Given the description of an element on the screen output the (x, y) to click on. 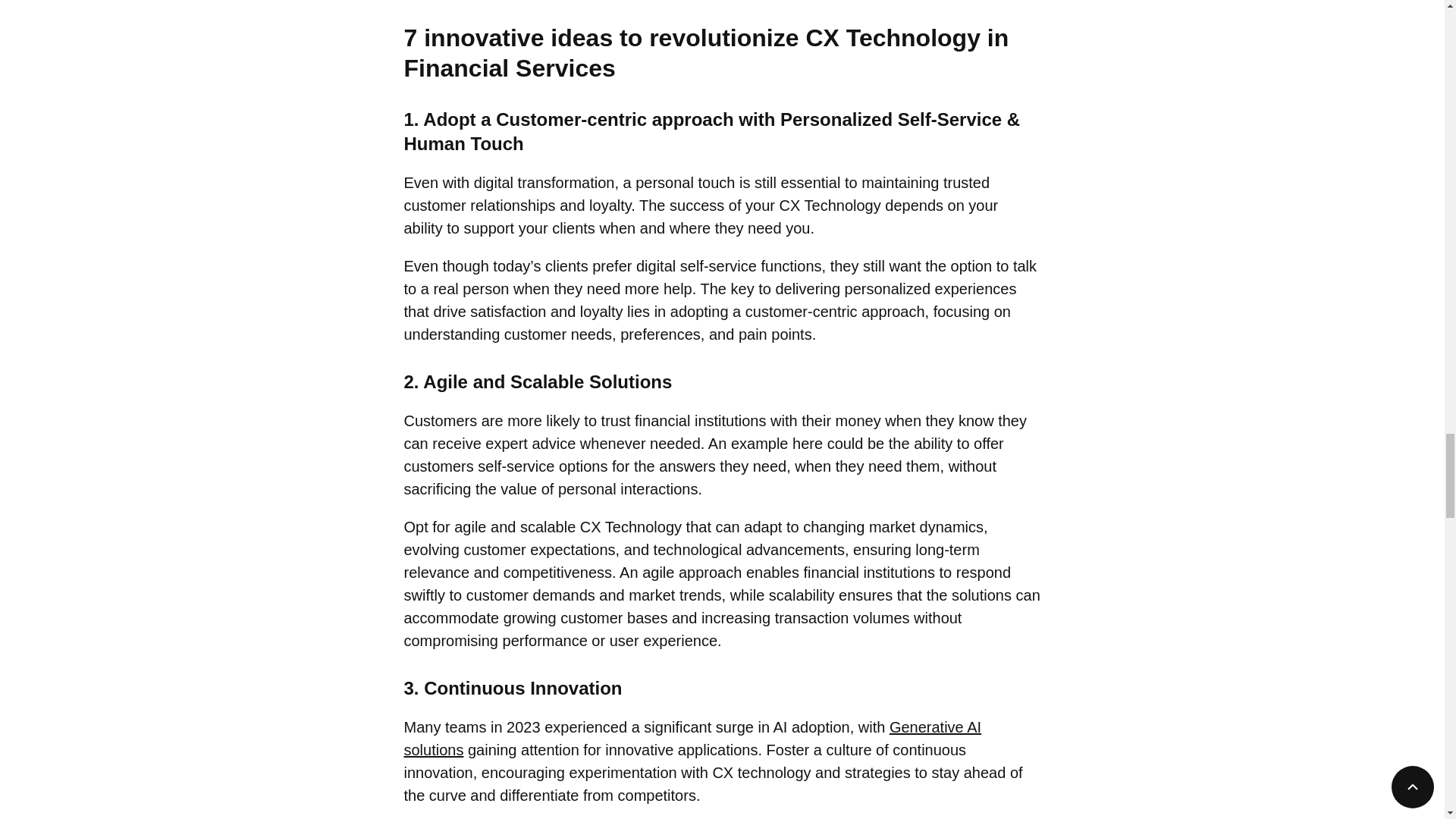
Generative AI solutions (692, 738)
